Given the description of an element on the screen output the (x, y) to click on. 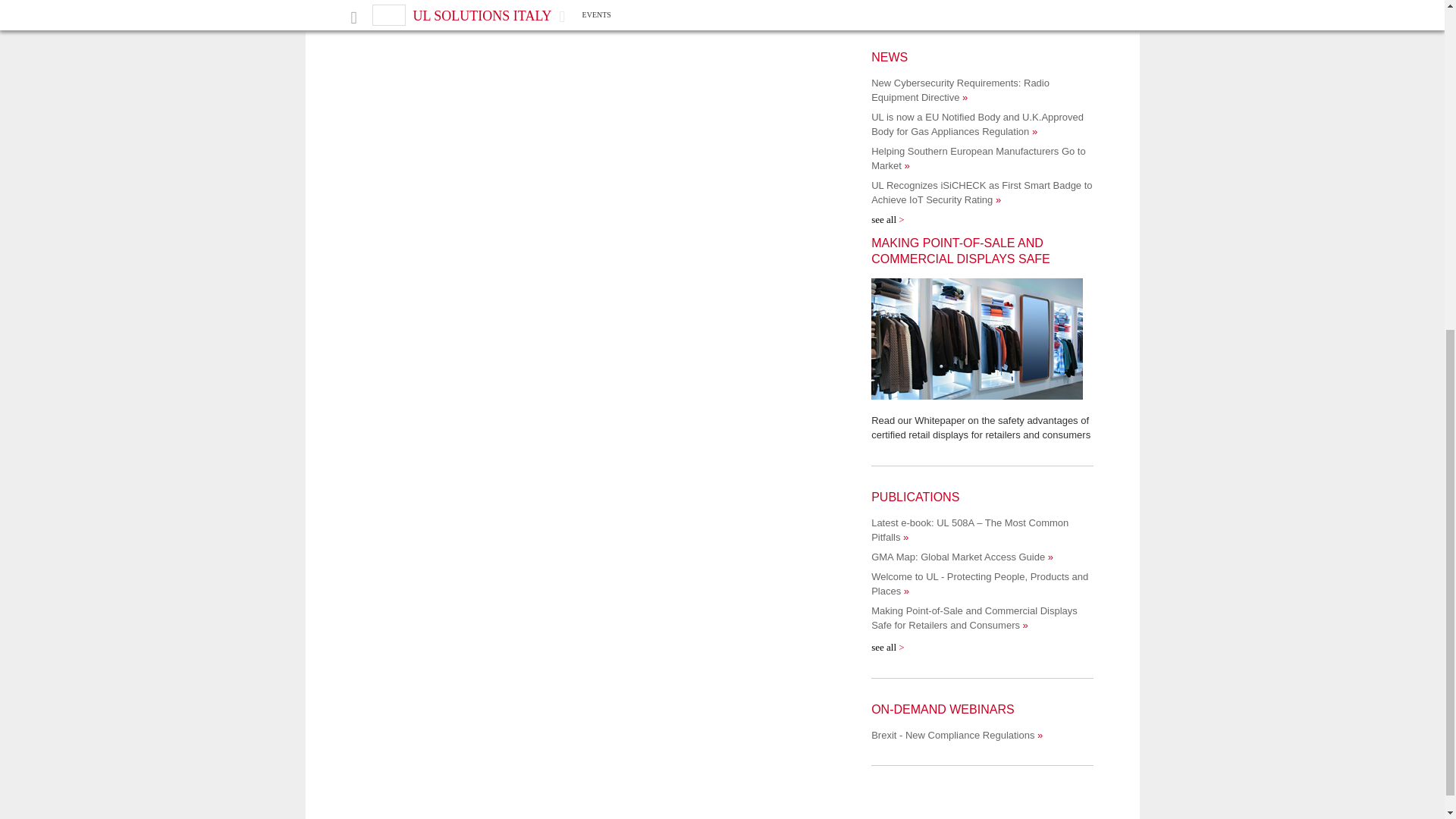
Brexit - New Compliance Regulations (956, 735)
see all (887, 646)
GMA Map: Global Market Access Guide (961, 556)
New Cybersecurity Requirements: Radio Equipment Directive (959, 89)
Helping Southern European Manufacturers Go to Market (978, 158)
see all (887, 219)
Welcome to UL - Protecting People, Products and Places (978, 583)
Click to open PDF file (981, 338)
